Given the description of an element on the screen output the (x, y) to click on. 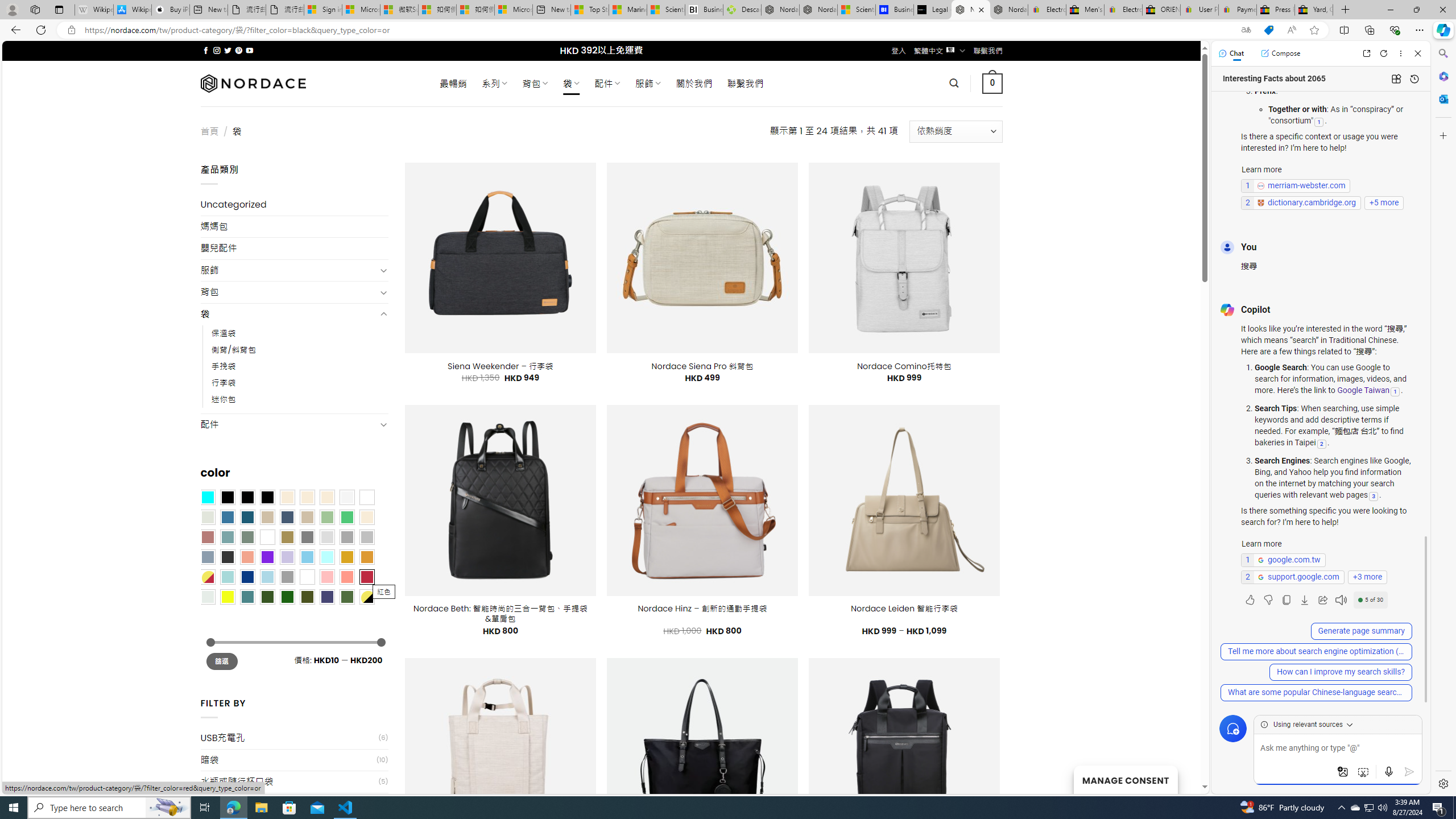
Compose (1280, 52)
Follow on Pinterest (237, 50)
